Given the description of an element on the screen output the (x, y) to click on. 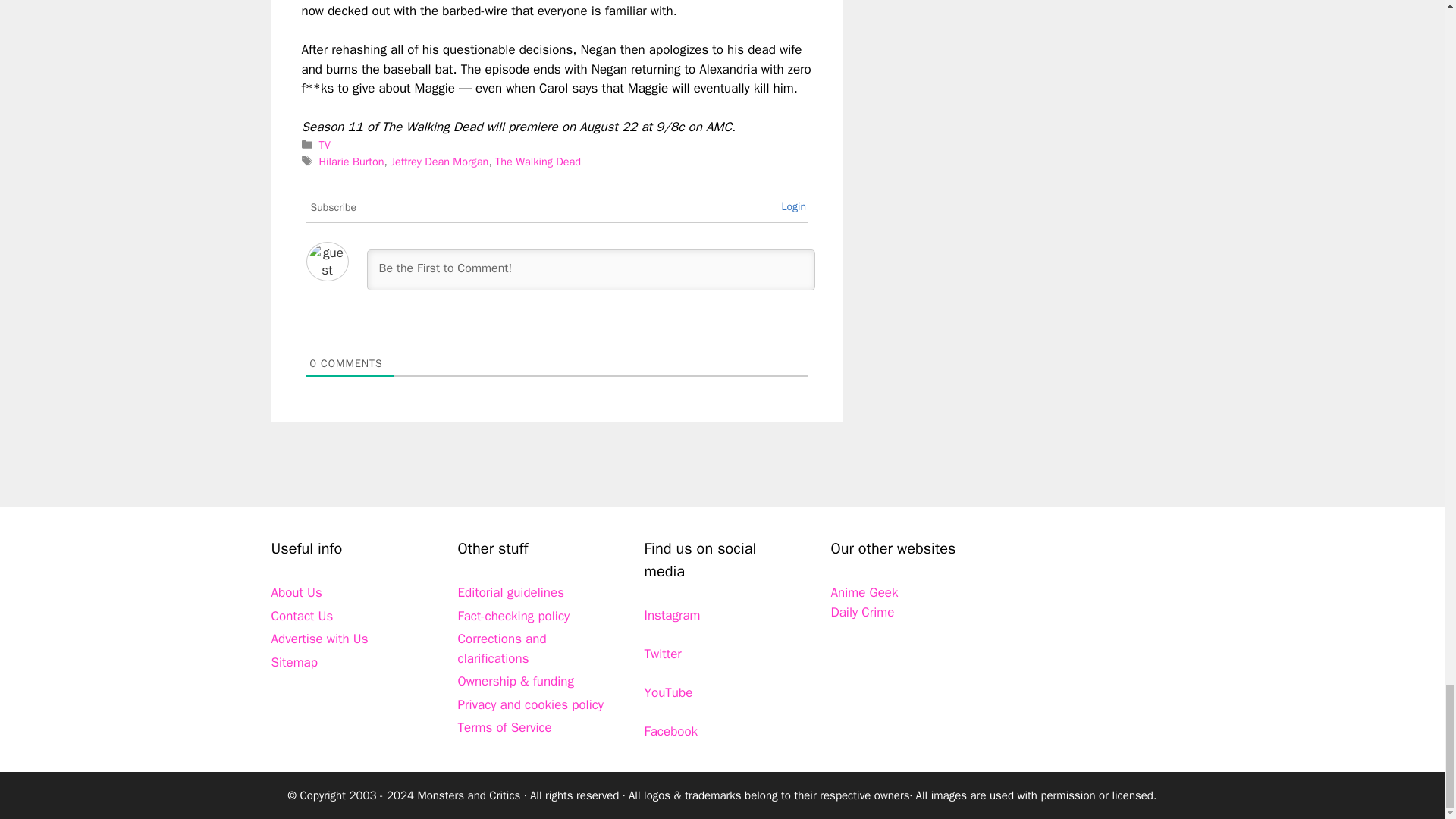
Advertise with Us (319, 638)
The Walking Dead (537, 161)
Fact-checking policy (514, 616)
Contact Us (301, 616)
Hilarie Burton (351, 161)
Login (793, 205)
Privacy and cookies policy (531, 704)
Terms of Service (504, 727)
Sitemap (293, 662)
Editorial guidelines (511, 592)
